Given the description of an element on the screen output the (x, y) to click on. 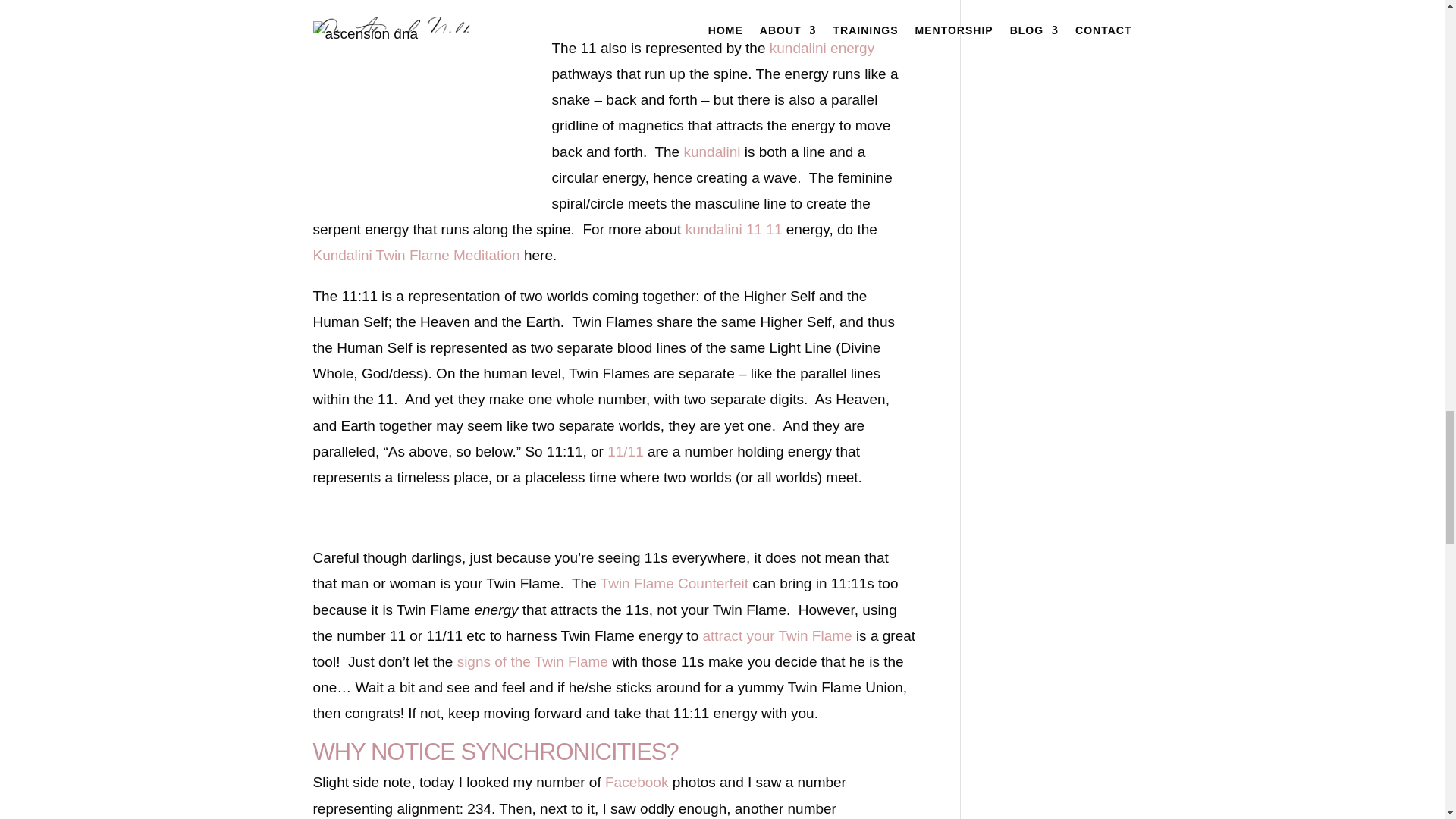
Twin Flame Counterfeit (673, 583)
kundalini (710, 151)
kundalini twin flame  (710, 151)
kundalini 11 11 (734, 229)
Kundalini Twin Flame Meditation (416, 254)
dr amanda noelle facebook (636, 781)
signs of the Twin Flame (532, 661)
twin flame love (532, 661)
Twin Flame Attraction (776, 635)
kundalini energy (822, 48)
Facebook (636, 781)
kundalini 1111 (734, 229)
kundalini twin flame meditation (416, 254)
Twin Flame Counterfeit  (673, 583)
attract your Twin Flame (776, 635)
